Given the description of an element on the screen output the (x, y) to click on. 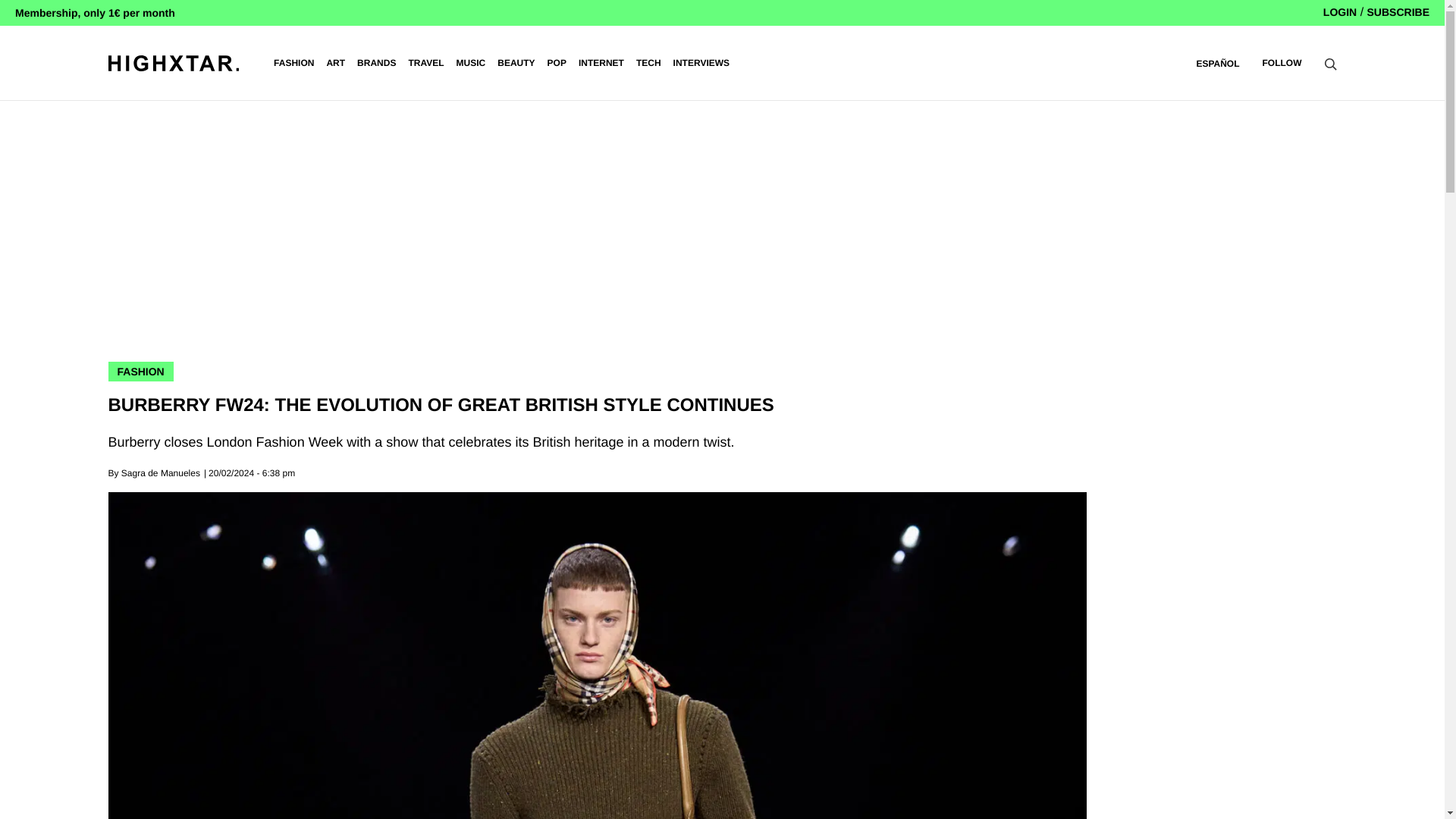
Follow (1281, 62)
MUSIC (471, 62)
POP (556, 62)
BRANDS (376, 62)
ART (335, 62)
Highxtar (172, 62)
INTERVIEWS (700, 62)
FOLLOW (1281, 62)
FASHION (293, 62)
TECH (648, 62)
TRAVEL (425, 62)
SUBSCRIBE (1398, 11)
LOGIN (1339, 11)
INTERNET (601, 62)
BEAUTY (515, 62)
